Given the description of an element on the screen output the (x, y) to click on. 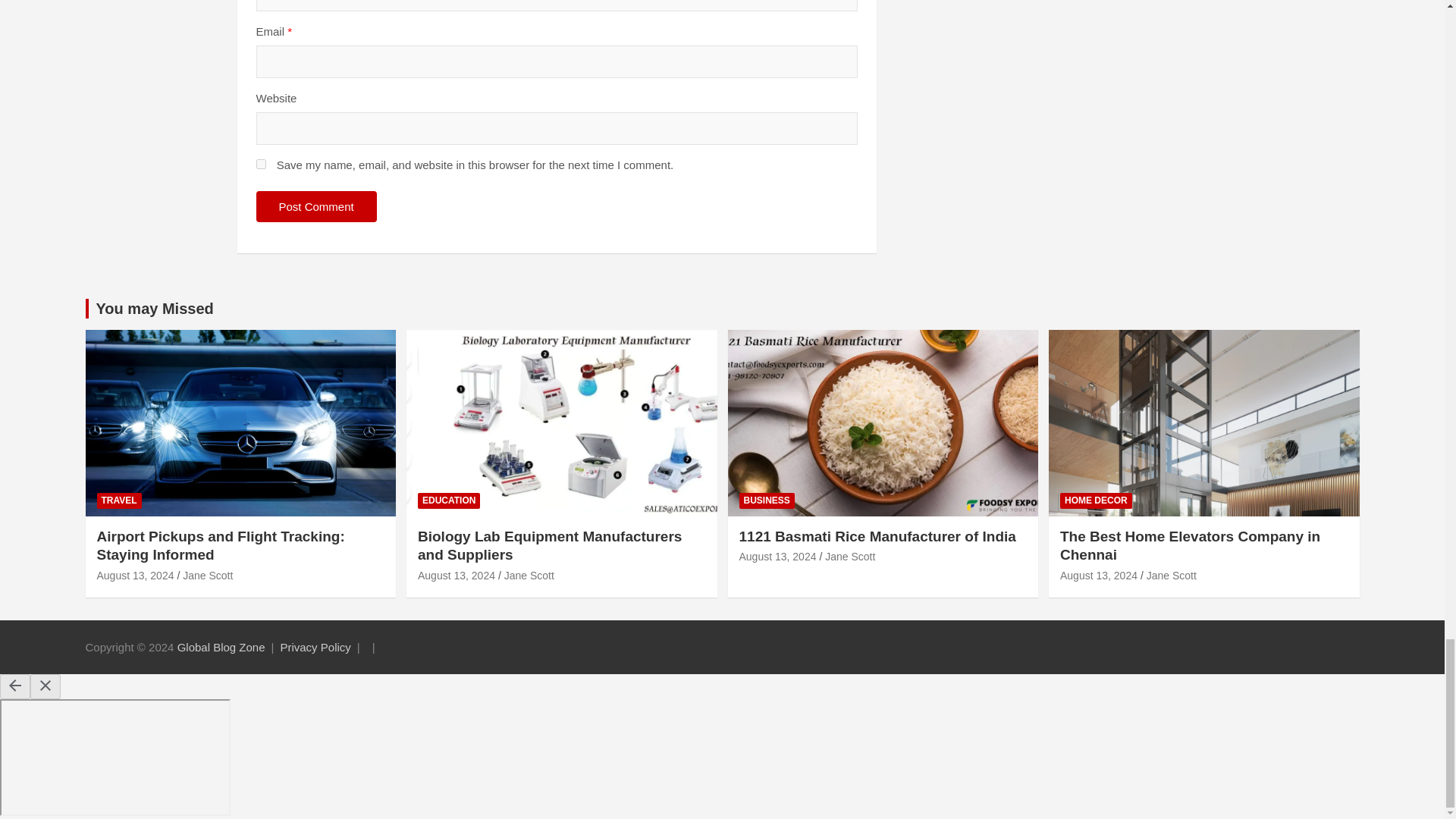
yes (261, 163)
Post Comment (316, 205)
The Best Home Elevators Company in Chennai (1098, 575)
Global Blog Zone (220, 646)
1121 Basmati Rice Manufacturer of India (776, 556)
Biology Lab Equipment Manufacturers and Suppliers (456, 575)
Airport Pickups and Flight Tracking: Staying Informed (135, 575)
